Given the description of an element on the screen output the (x, y) to click on. 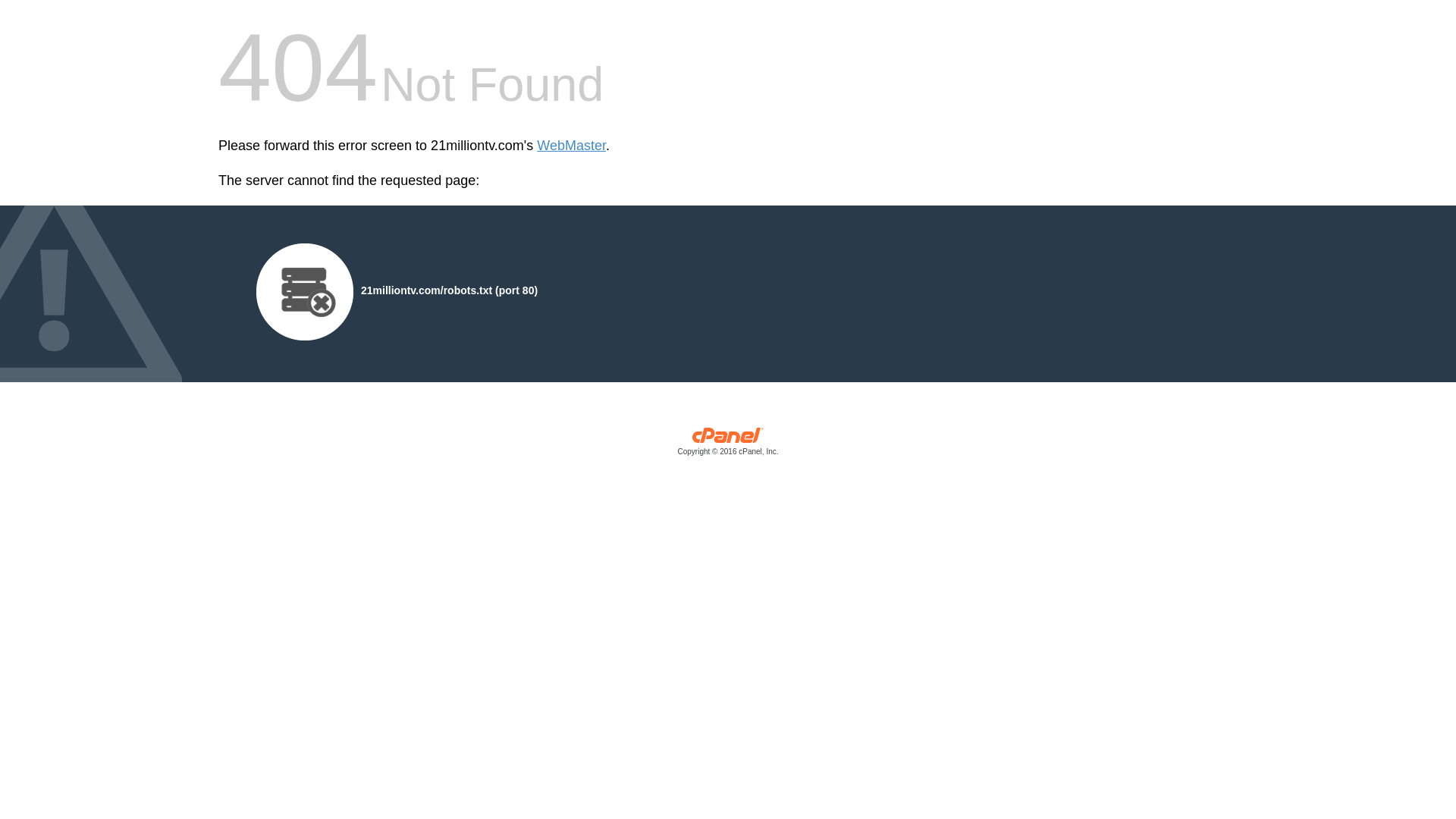
WebMaster Element type: text (570, 145)
